Given the description of an element on the screen output the (x, y) to click on. 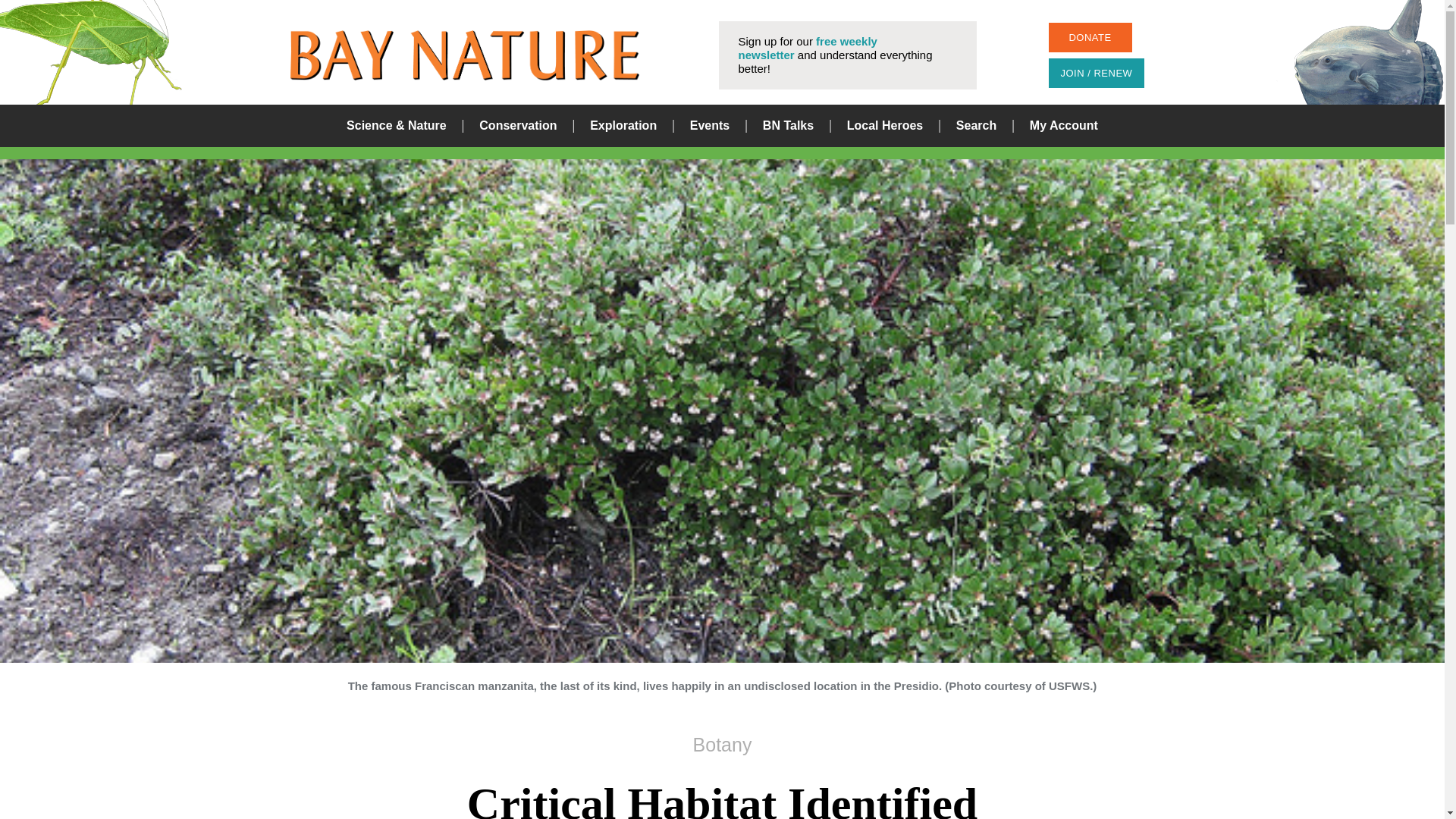
Search (975, 125)
My Account (1063, 125)
BN Talks (787, 125)
DONATE (1089, 37)
free weekly newsletter (807, 48)
Exploration (622, 125)
Local Heroes (885, 125)
Events (709, 125)
Conservation (517, 125)
Bay Nature (464, 54)
